Given the description of an element on the screen output the (x, y) to click on. 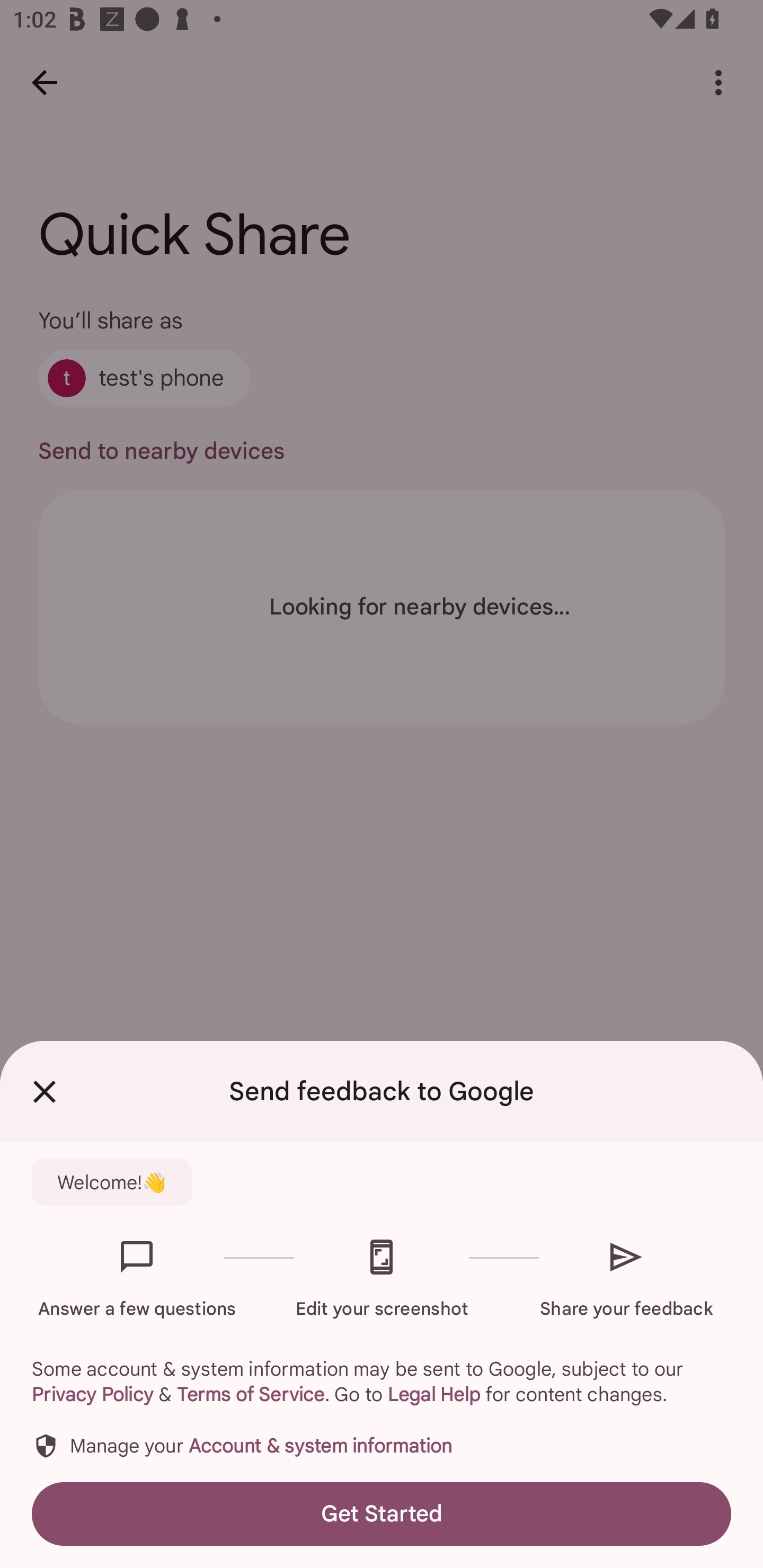
Close Feedback (44, 1091)
Get Started (381, 1513)
